Given the description of an element on the screen output the (x, y) to click on. 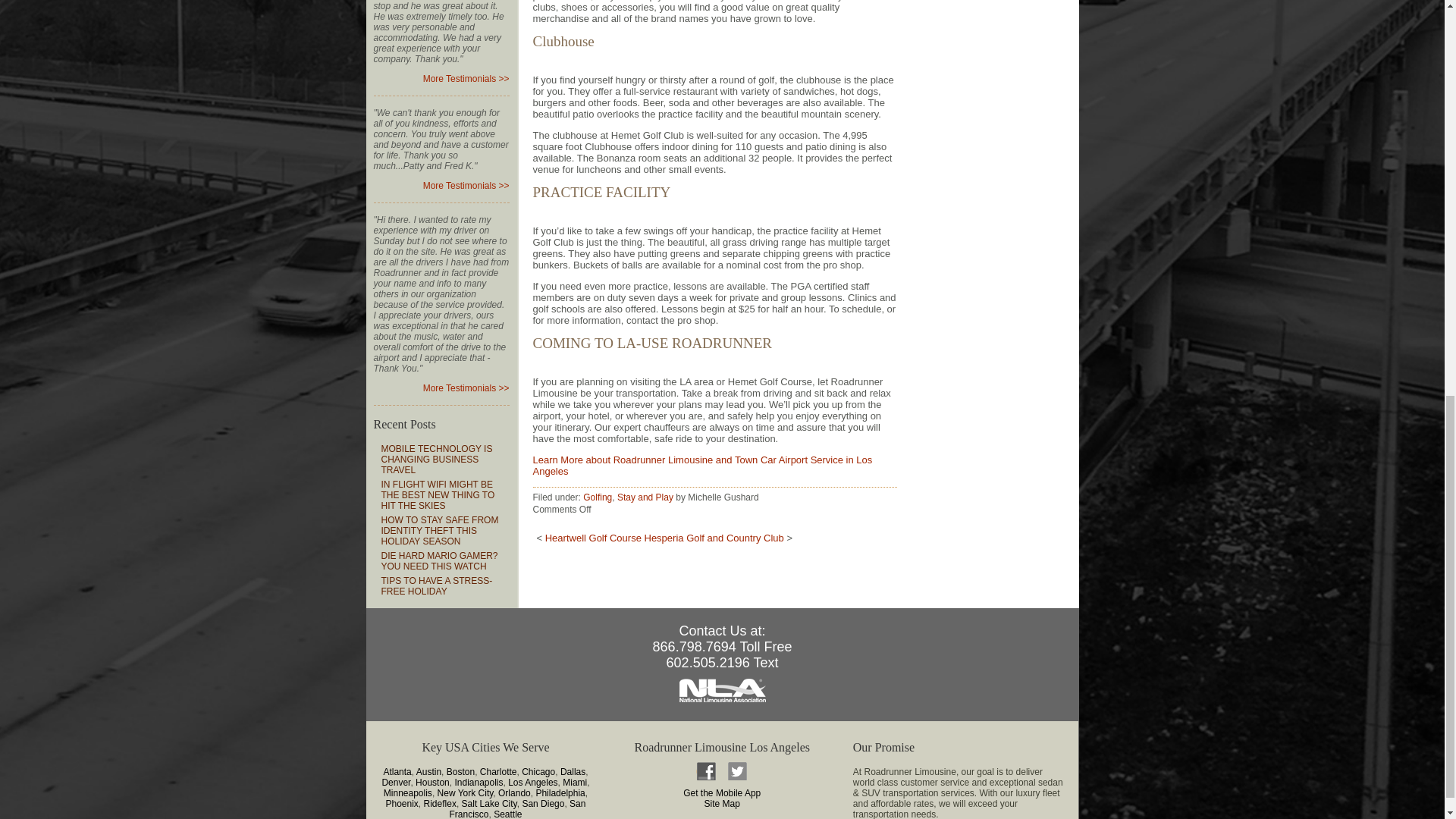
HOW TO STAY SAFE FROM IDENTITY THEFT THIS HOLIDAY SEASON (438, 531)
Stay and Play (644, 497)
MOBILE TECHNOLOGY IS CHANGING BUSINESS TRAVEL (436, 459)
Austin (428, 771)
Heartwell Golf Course (593, 537)
Golfing (597, 497)
IN FLIGHT WIFI MIGHT BE THE BEST NEW THING TO HIT THE SKIES (437, 495)
Frequent Traveler Programs (466, 388)
Frequent Traveler Programs (466, 78)
